Given the description of an element on the screen output the (x, y) to click on. 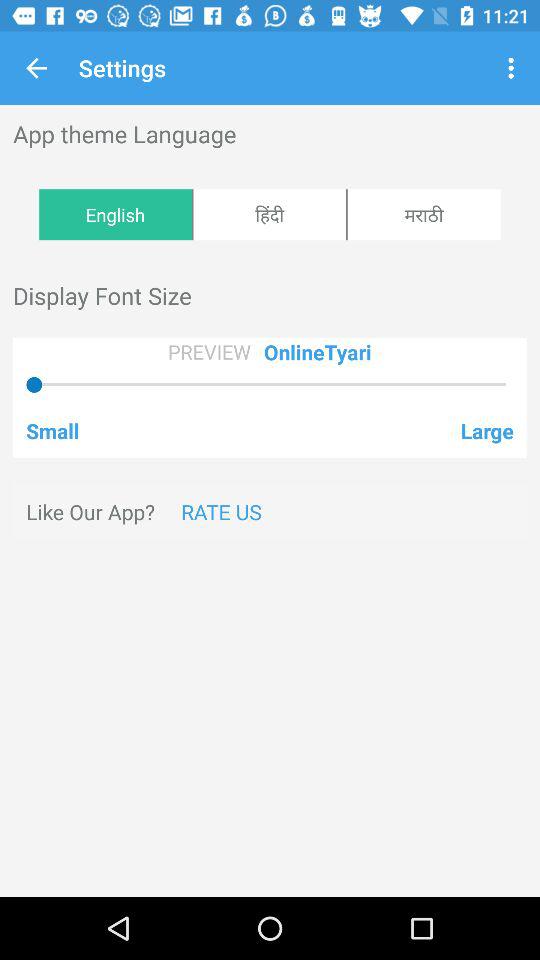
jump until rate us icon (221, 511)
